Given the description of an element on the screen output the (x, y) to click on. 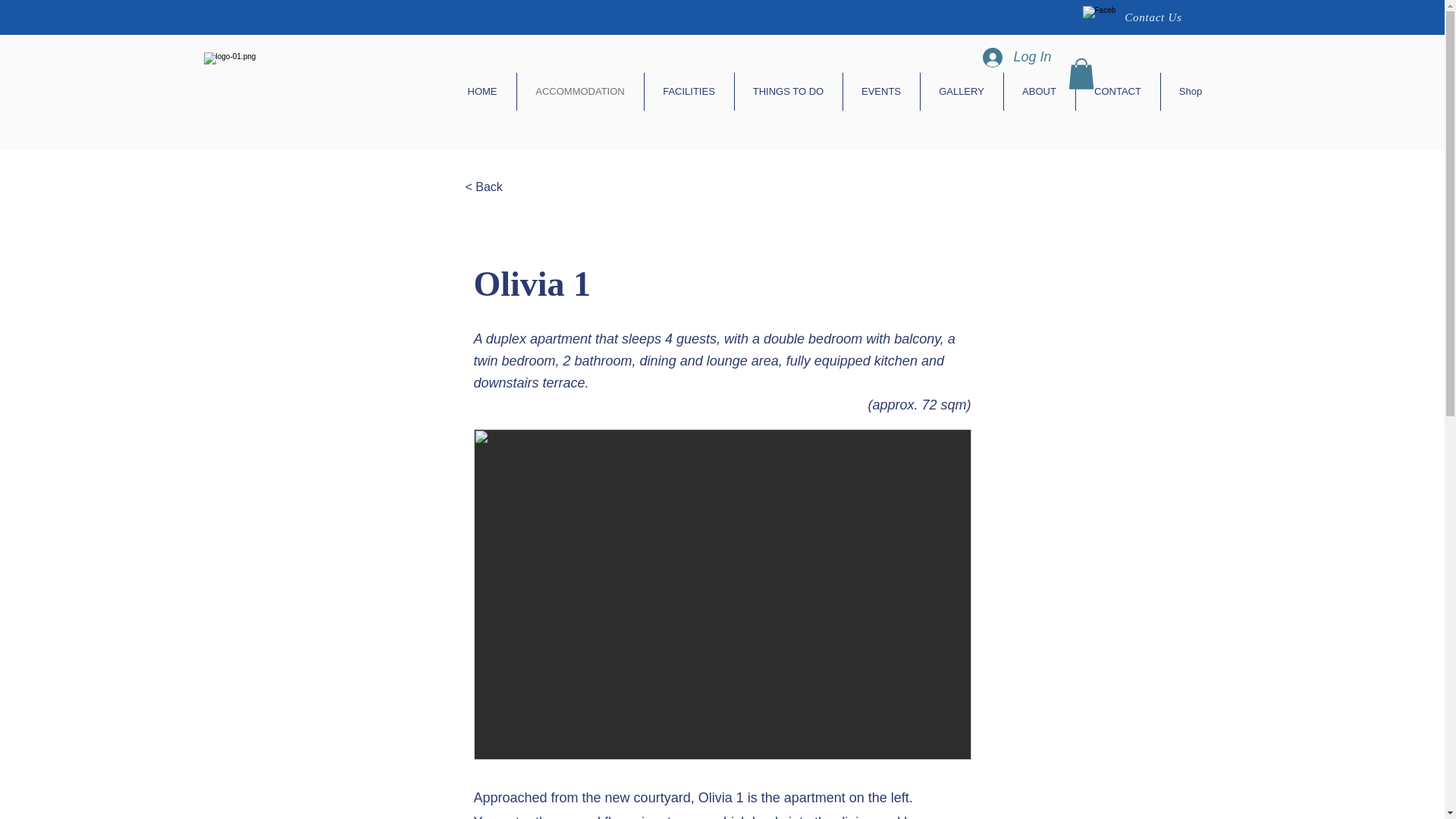
GALLERY (961, 91)
Shop (1190, 91)
HOME (482, 91)
Contact Us (1152, 17)
THINGS TO DO (787, 91)
EVENTS (881, 91)
CONTACT (1116, 91)
ABOUT (1039, 91)
Log In (1016, 57)
FACILITIES (689, 91)
ACCOMMODATION (579, 91)
LOGO 1-01.png (335, 90)
